Given the description of an element on the screen output the (x, y) to click on. 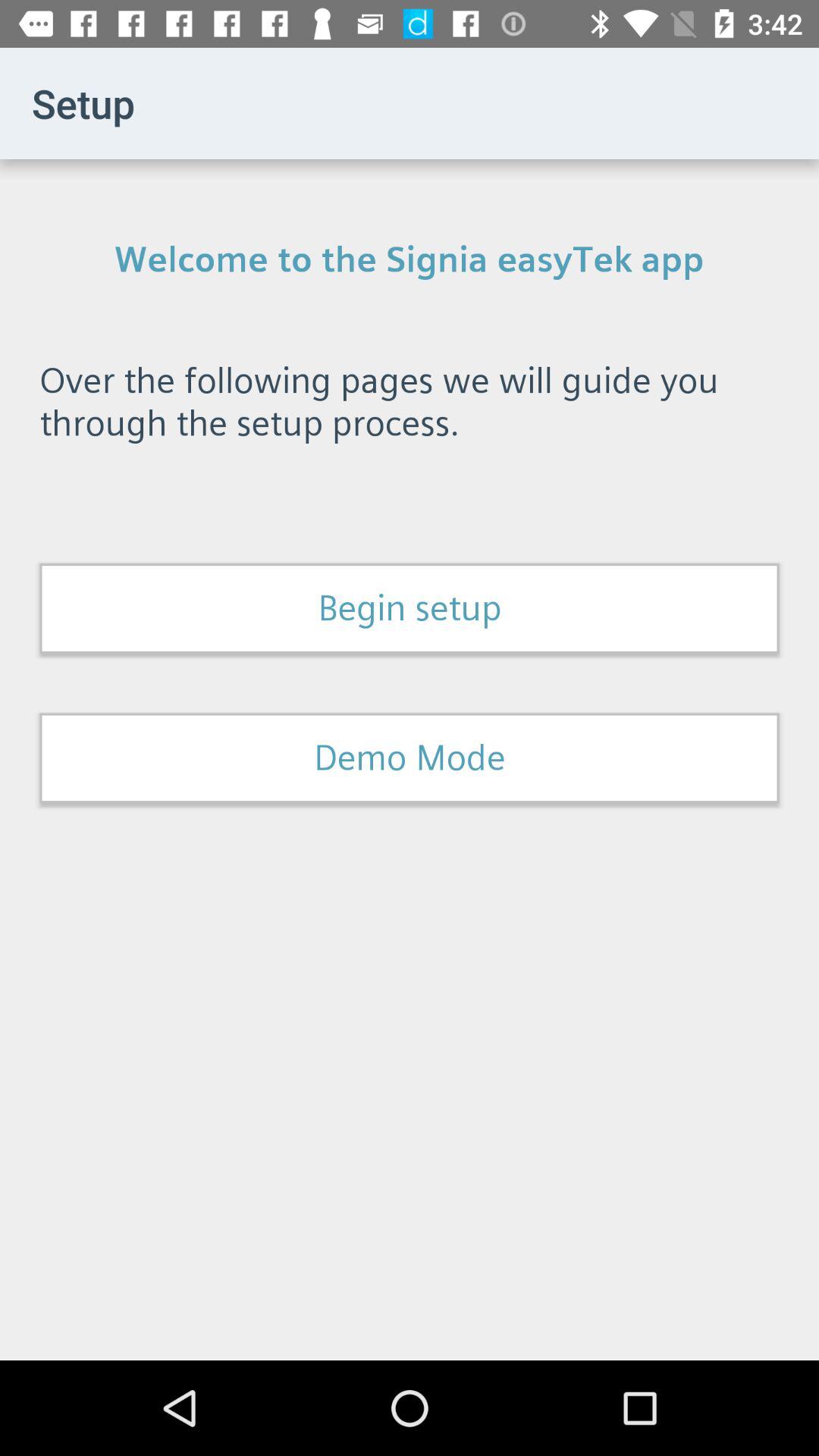
turn on begin setup icon (409, 608)
